Given the description of an element on the screen output the (x, y) to click on. 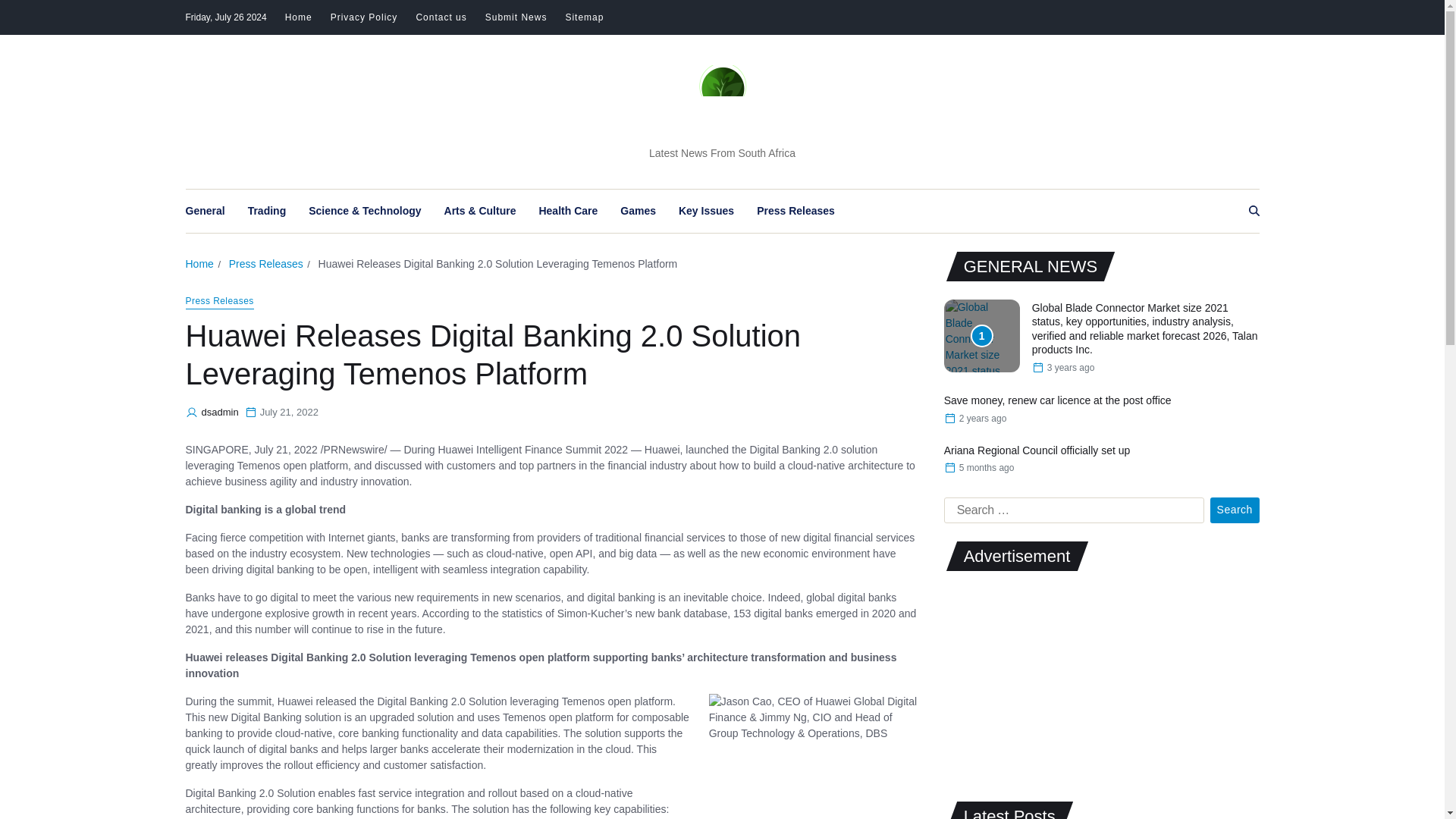
Search (1234, 510)
Save money, renew car licence at the post office (1057, 399)
Key Issues (705, 210)
Search (1234, 510)
dsadmin (220, 412)
Search (1234, 510)
General (204, 210)
Trading (266, 210)
Privacy Policy (363, 17)
Home (299, 17)
1 (981, 335)
Ariana Regional Council officially set up (1037, 450)
Press Releases (265, 263)
Contact us (439, 17)
Home (198, 263)
